Given the description of an element on the screen output the (x, y) to click on. 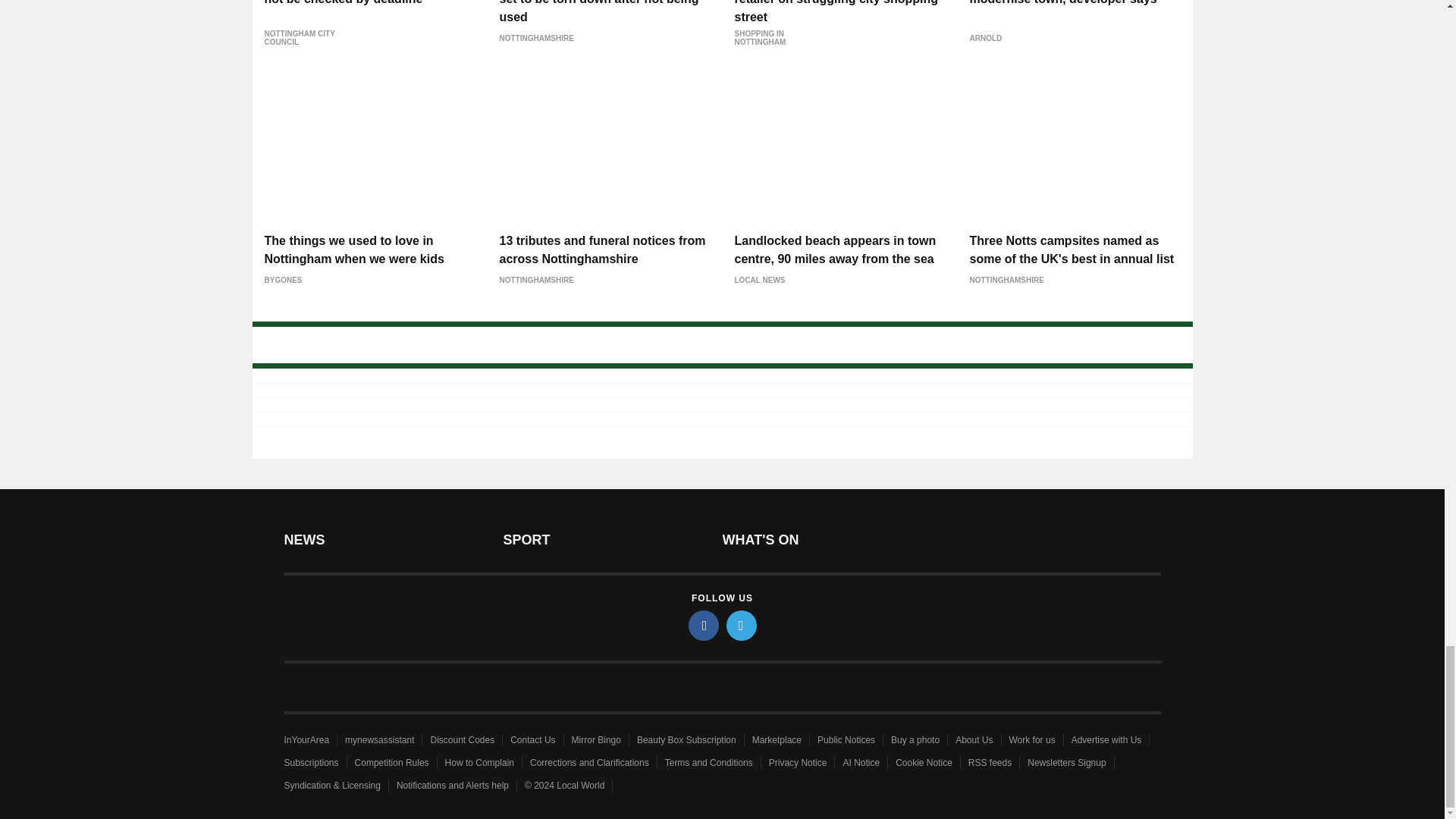
twitter (741, 625)
facebook (703, 625)
